Given the description of an element on the screen output the (x, y) to click on. 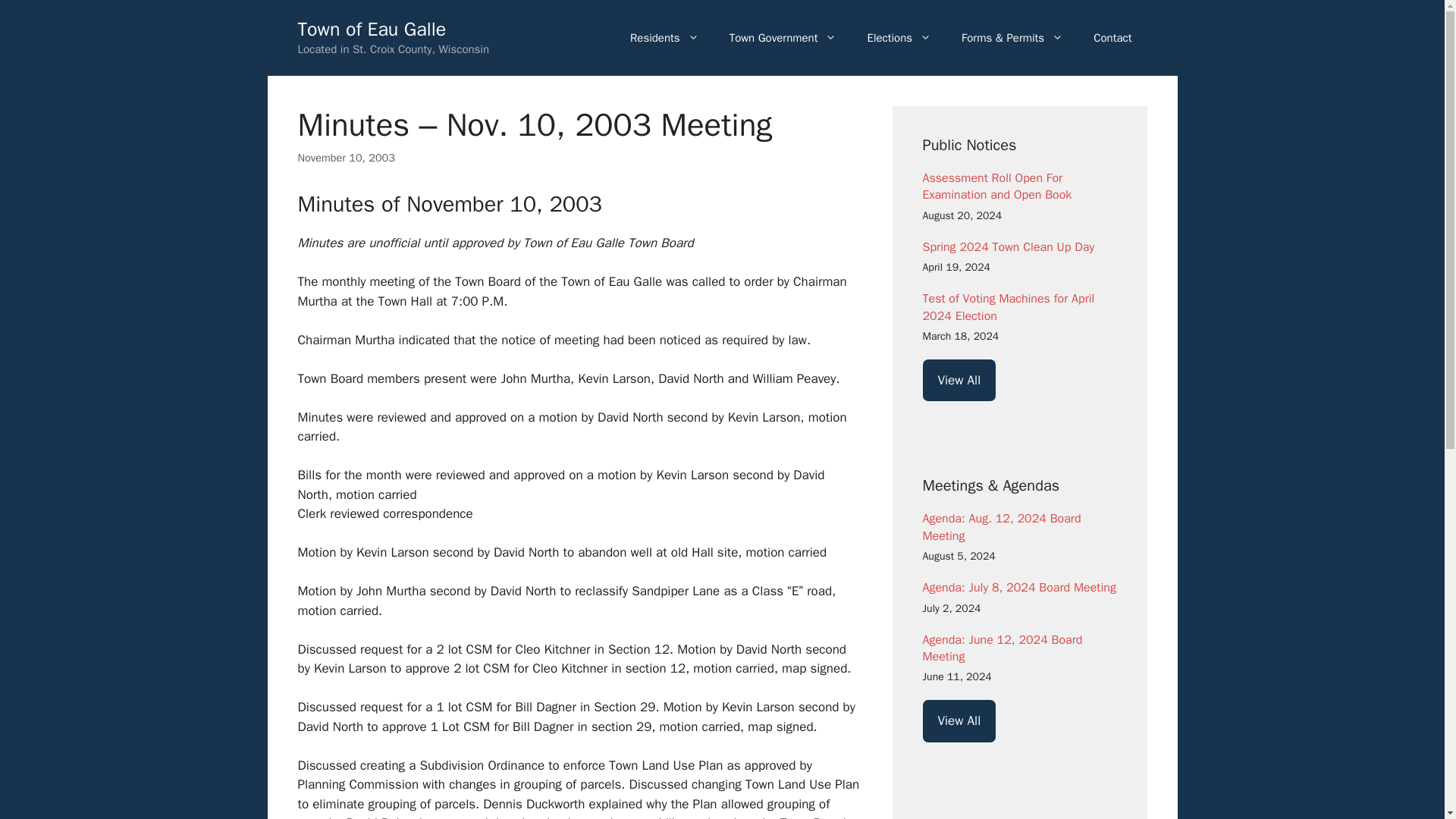
Residents (664, 37)
Elections (898, 37)
Town Government (782, 37)
Town of Eau Galle (371, 28)
Contact (1112, 37)
